Given the description of an element on the screen output the (x, y) to click on. 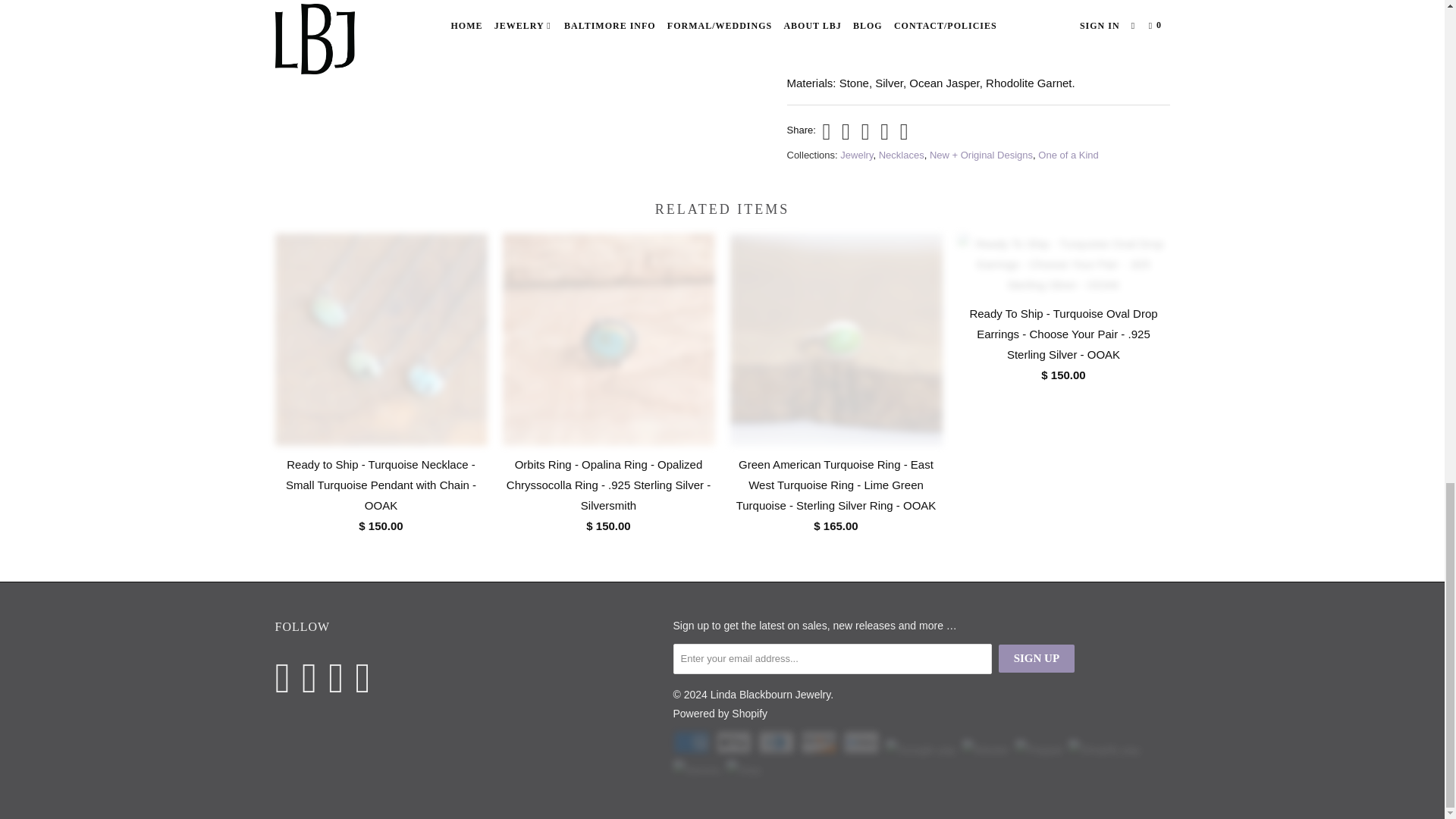
Sign Up (1036, 658)
